Given the description of an element on the screen output the (x, y) to click on. 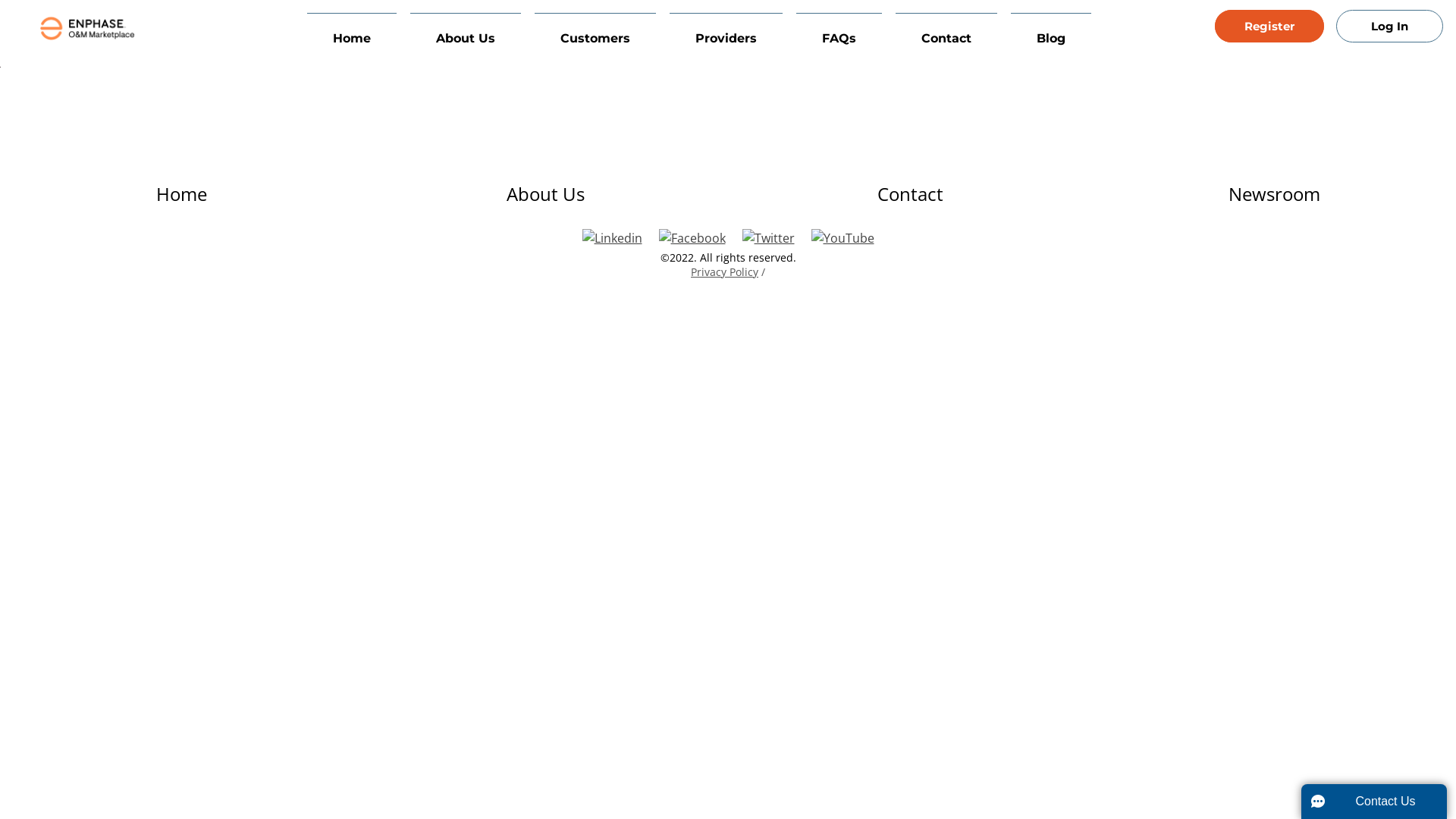
Contact Element type: text (946, 32)
About Us Element type: text (465, 32)
About Us Element type: text (545, 193)
FAQs Element type: text (838, 32)
Contact Element type: text (910, 193)
Providers Element type: text (725, 32)
Home Element type: text (351, 32)
Home Element type: text (181, 193)
Blog Element type: text (1050, 32)
Newsroom Element type: text (1274, 193)
Log In Element type: text (1389, 25)
Register Element type: text (1269, 25)
Customers Element type: text (594, 32)
Privacy Policy Element type: text (724, 271)
